Given the description of an element on the screen output the (x, y) to click on. 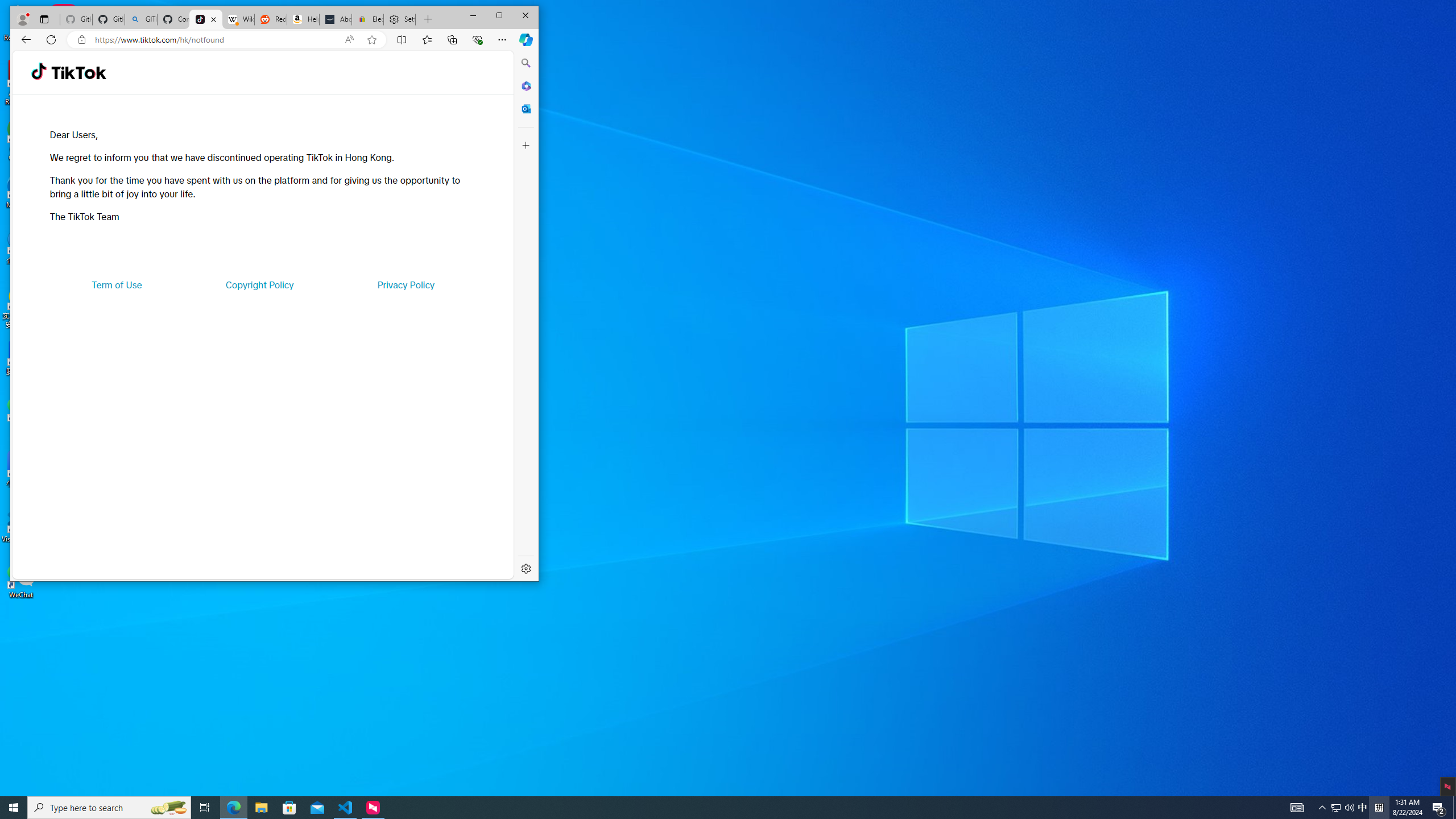
TikTok (205, 19)
